Given the description of an element on the screen output the (x, y) to click on. 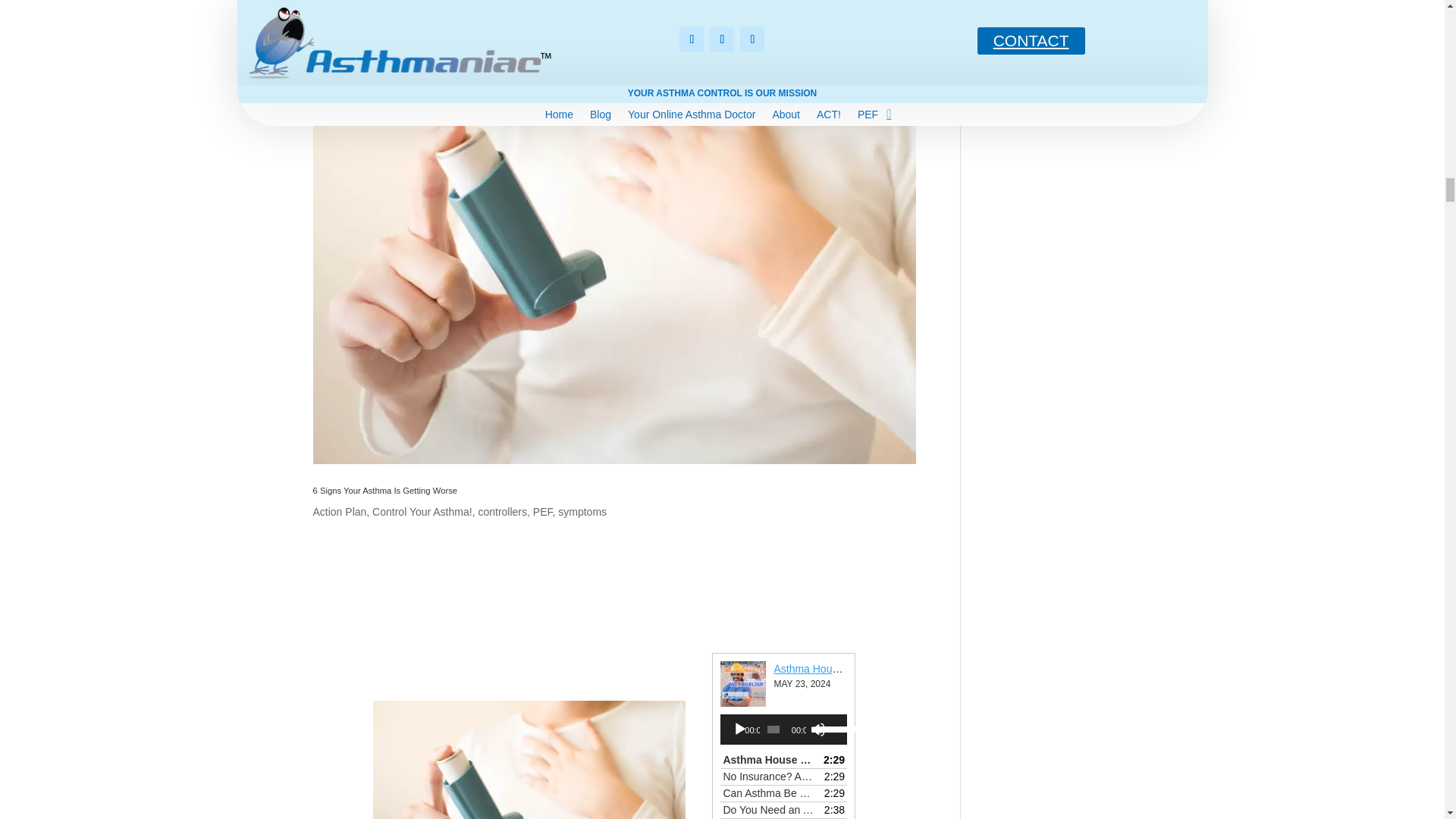
Play (740, 729)
Mute (817, 729)
